Given the description of an element on the screen output the (x, y) to click on. 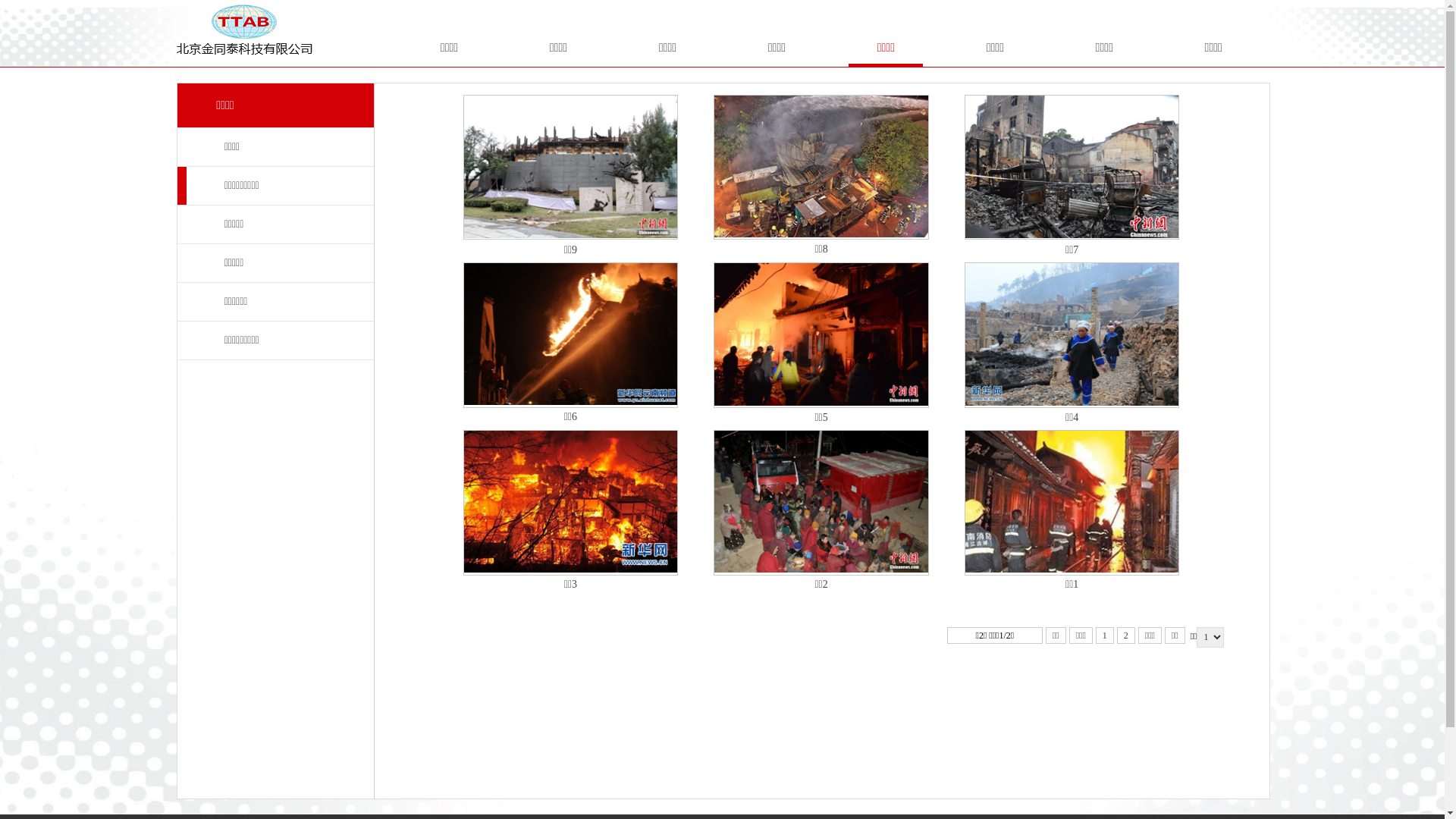
1 Element type: text (1104, 635)
2 Element type: text (1126, 635)
